Given the description of an element on the screen output the (x, y) to click on. 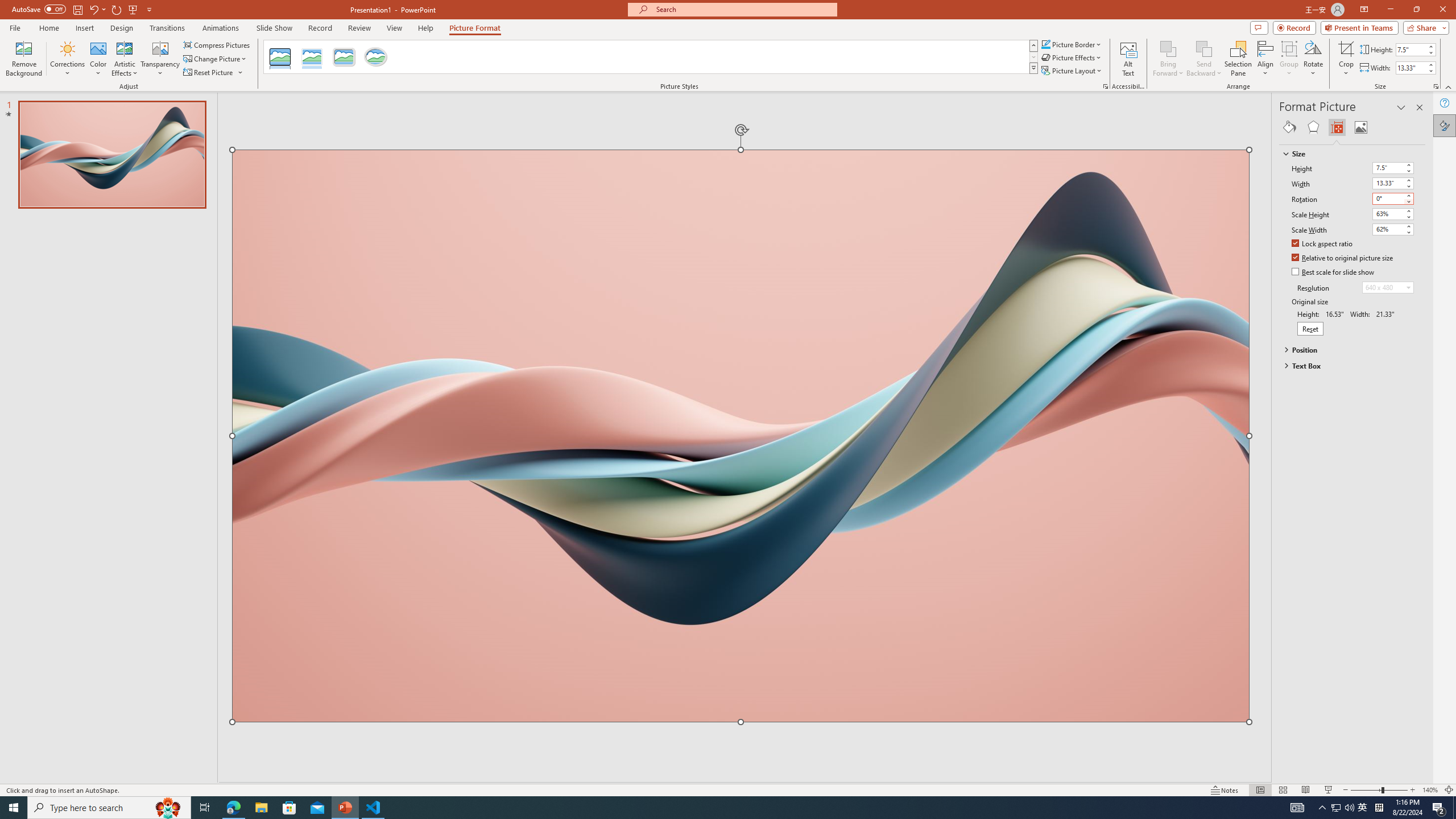
Shape Width (1410, 67)
Remove Background (23, 58)
Lock aspect ratio (1322, 244)
Size & Properties (1336, 126)
